Given the description of an element on the screen output the (x, y) to click on. 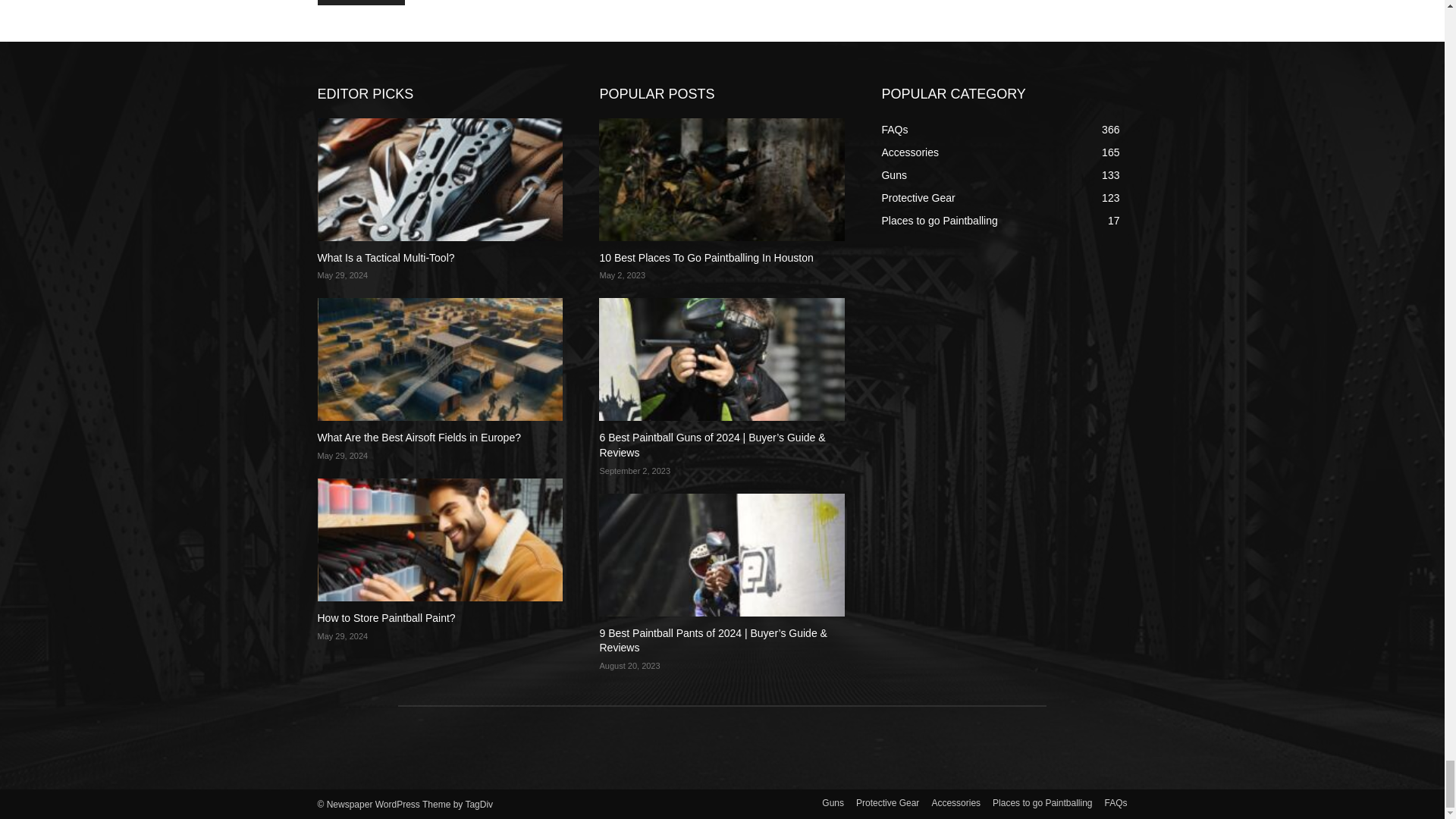
Post Comment (360, 2)
